Given the description of an element on the screen output the (x, y) to click on. 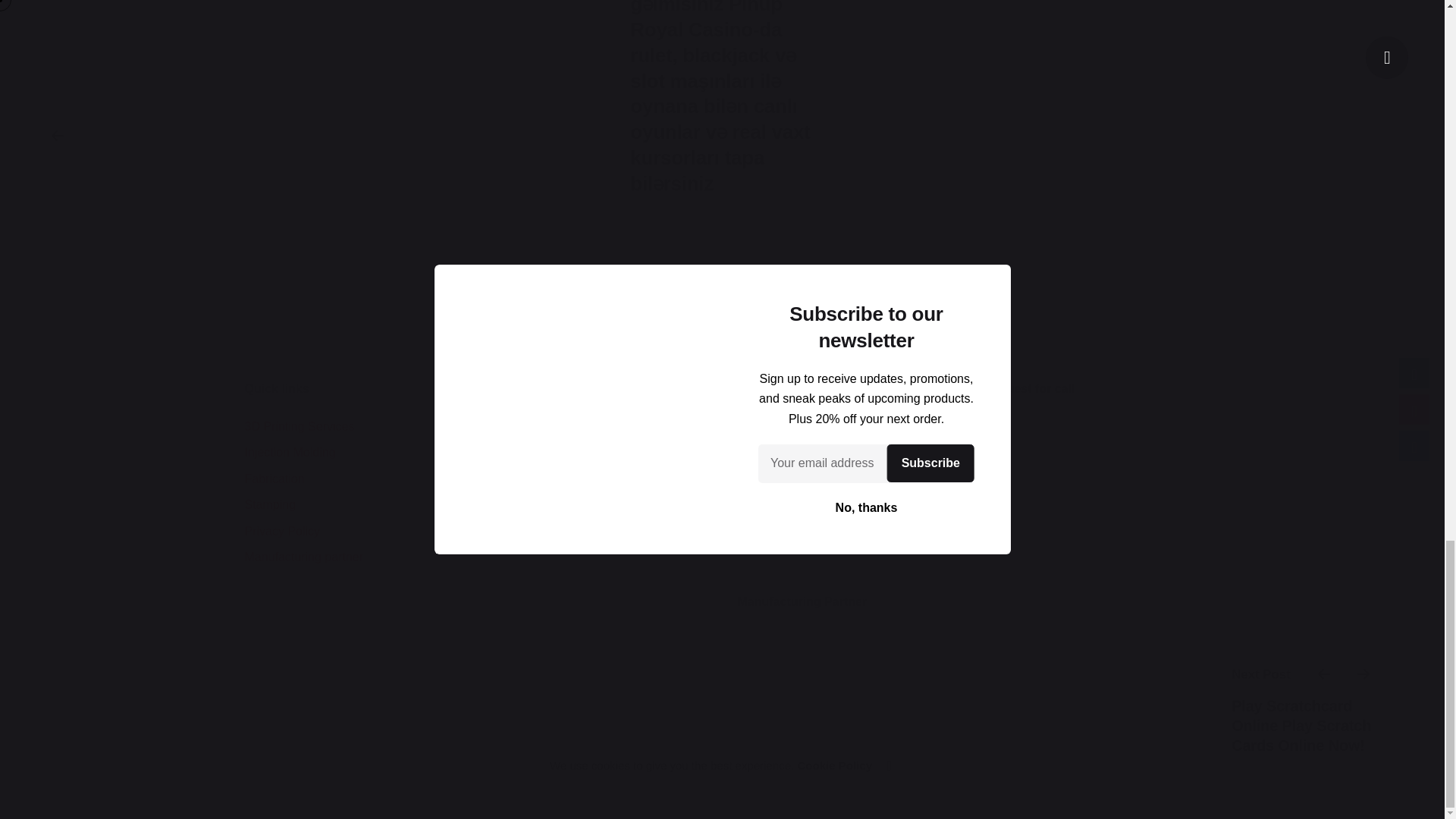
Fabrication (274, 478)
3D Printing Services (298, 426)
Injection Molding (289, 451)
Stamping (269, 504)
